Given the description of an element on the screen output the (x, y) to click on. 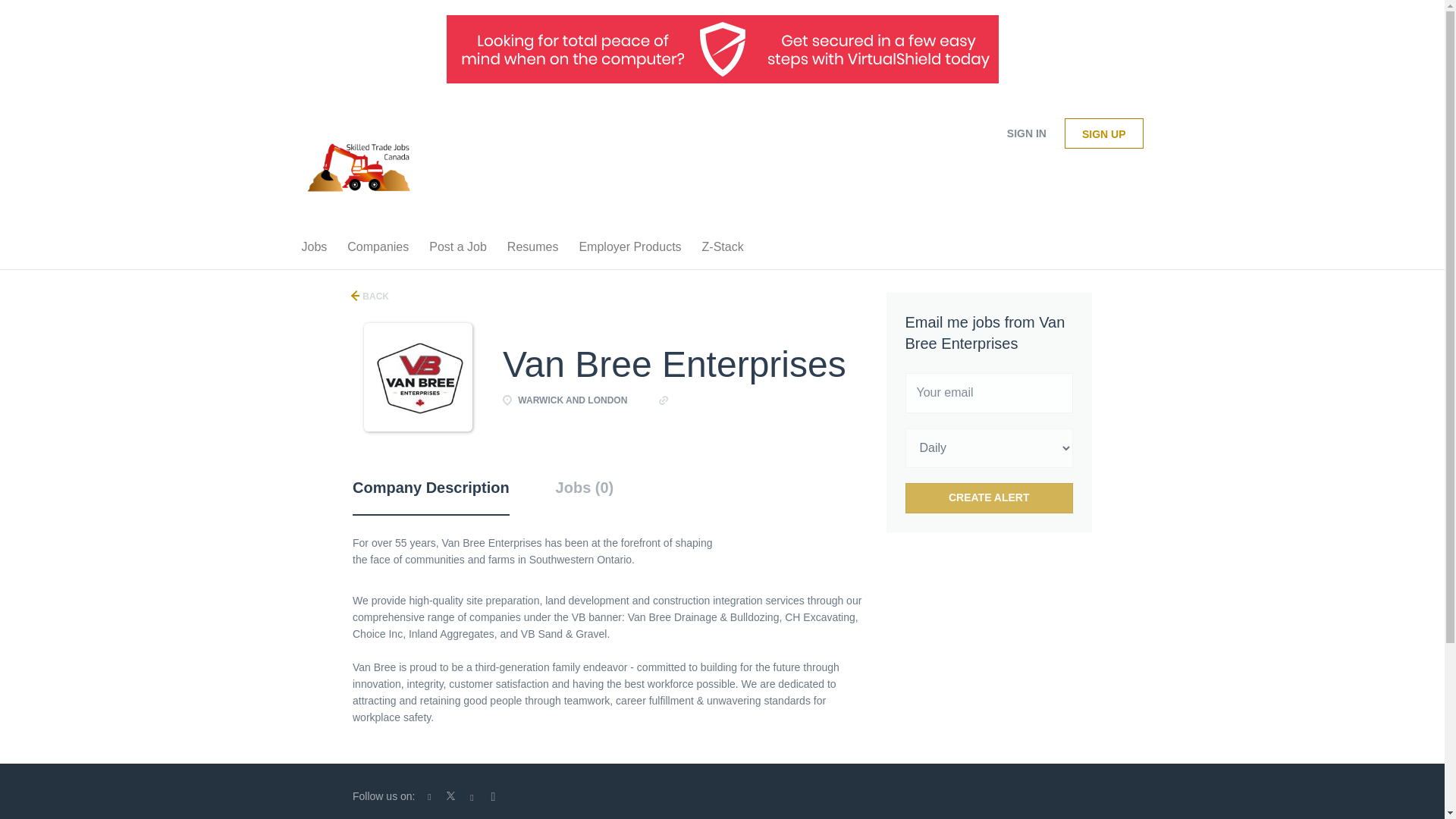
Company Description (430, 495)
SIGN UP (1103, 132)
Companies (377, 250)
Z-Stack (722, 250)
SIGN IN (1026, 133)
Follow us on: (387, 796)
Resumes (532, 250)
Post a Job (458, 250)
Jobs (314, 250)
Employer Products (629, 250)
